Given the description of an element on the screen output the (x, y) to click on. 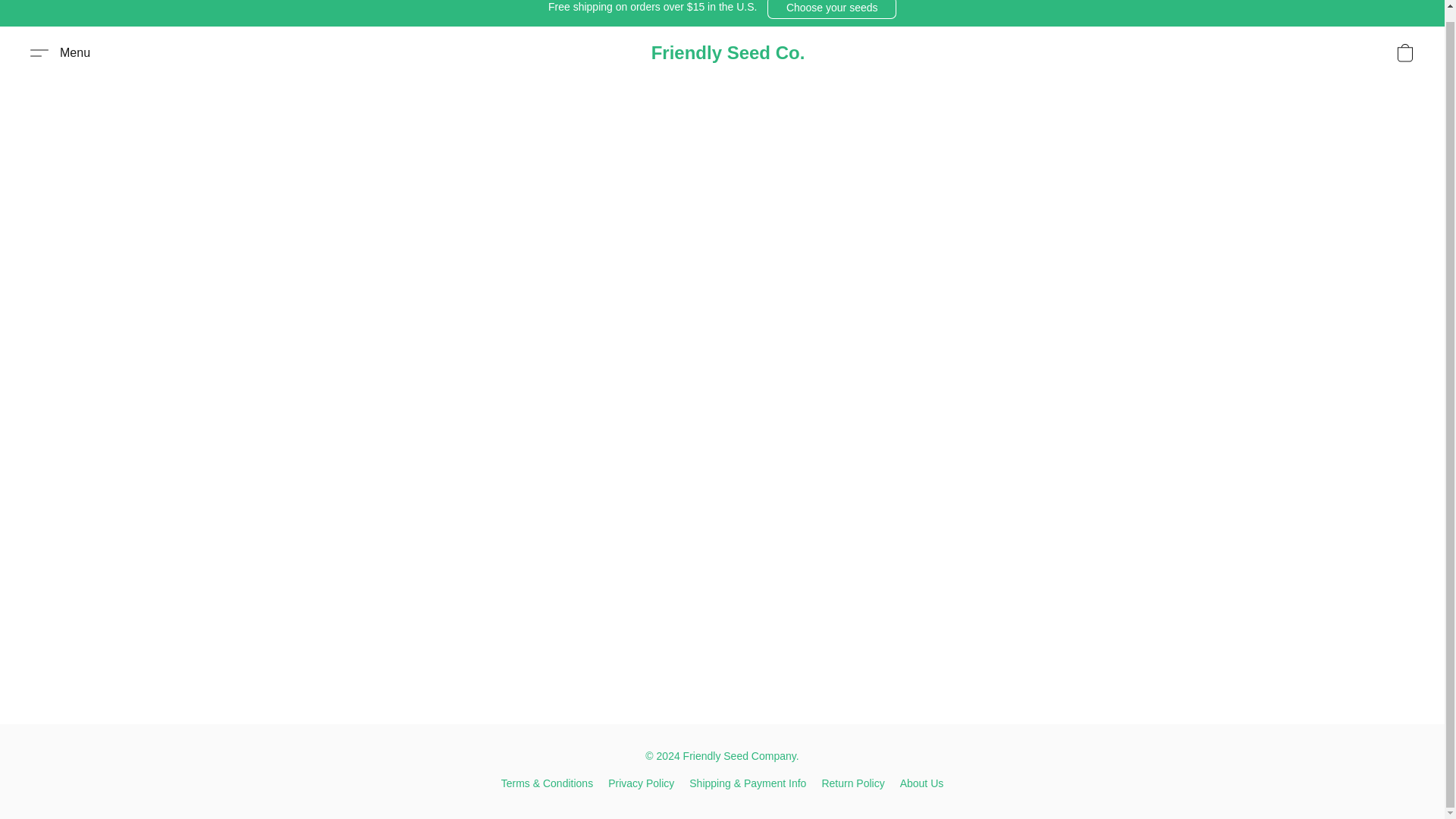
Friendly Seed Co. (727, 53)
About Us (921, 782)
Menu (59, 53)
Return Policy (852, 782)
Choose your seeds (831, 9)
Go to your shopping cart (1404, 52)
Privacy Policy (641, 782)
